Given the description of an element on the screen output the (x, y) to click on. 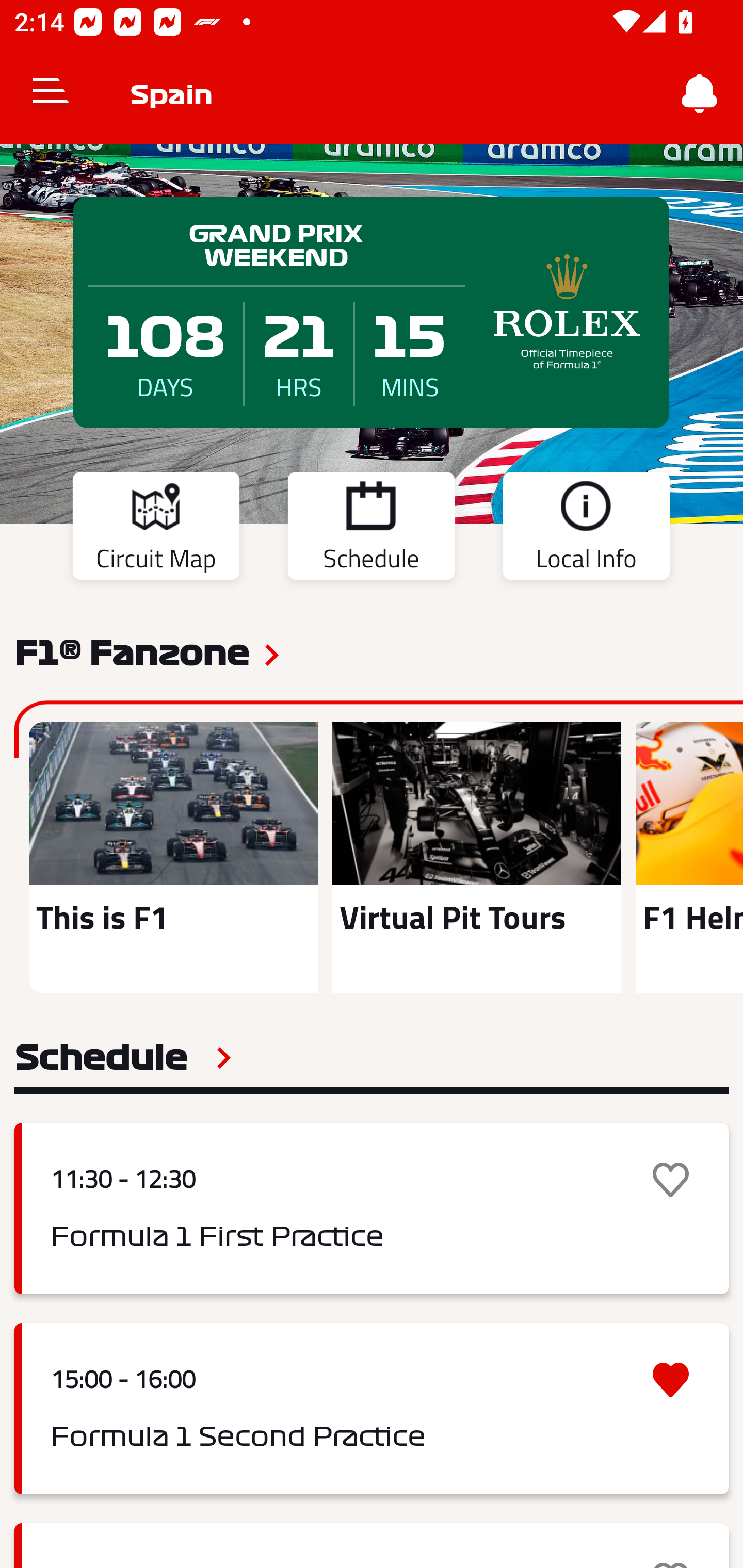
Navigate up (50, 93)
Notifications (699, 93)
Circuit Map (155, 528)
Schedule (370, 528)
Local Info (586, 528)
F1® Fanzone (131, 651)
This is F1 (173, 857)
Virtual Pit Tours (476, 857)
Schedule (122, 1057)
11:30 - 12:30 Formula 1 First Practice (371, 1207)
15:00 - 16:00 Formula 1 Second Practice (371, 1408)
